Given the description of an element on the screen output the (x, y) to click on. 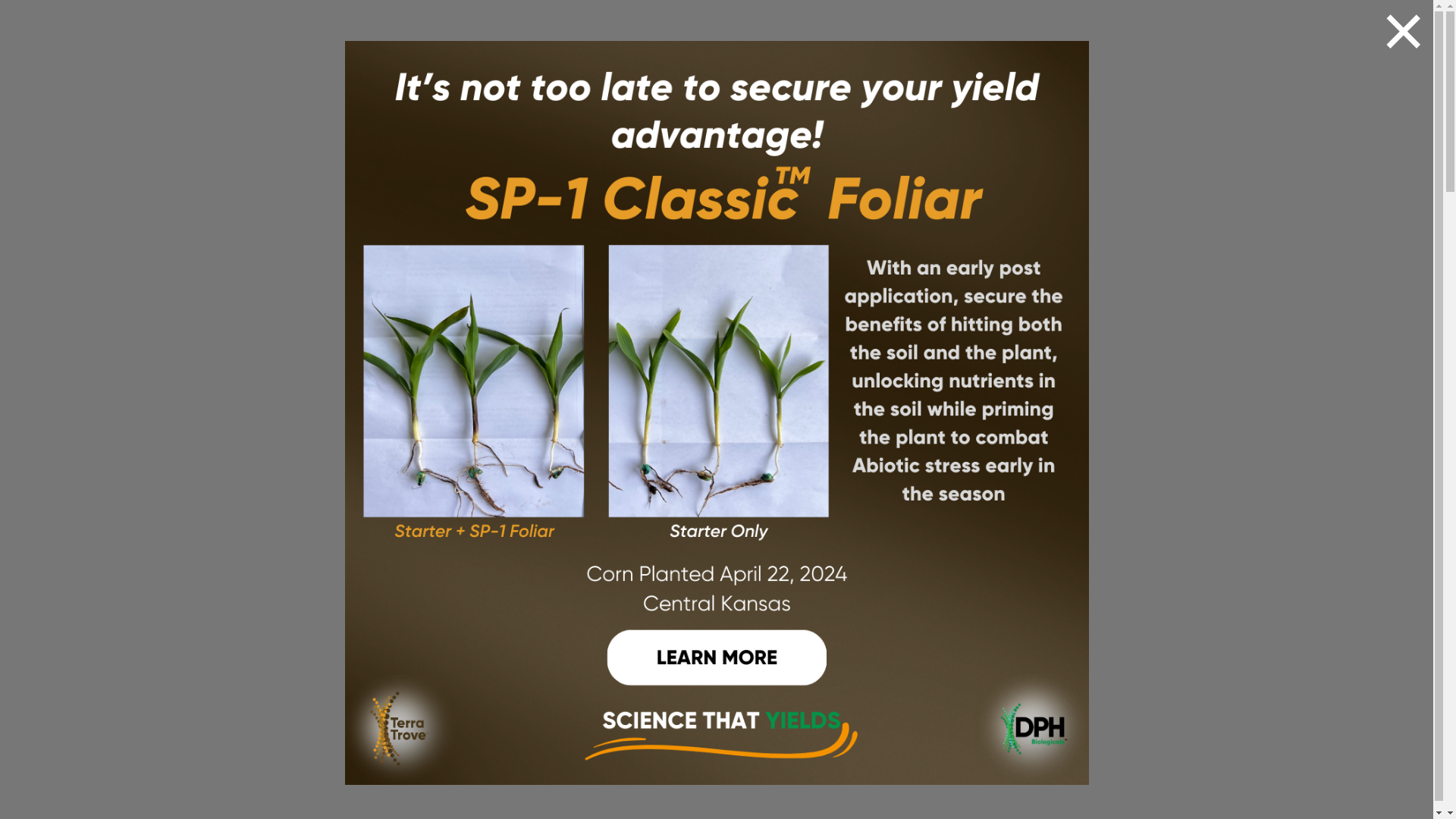
HOME (560, 45)
AG PRODUCTS (720, 45)
OUR LEGACY (628, 45)
NEWS (982, 45)
IN THE FIELD (913, 45)
